Given the description of an element on the screen output the (x, y) to click on. 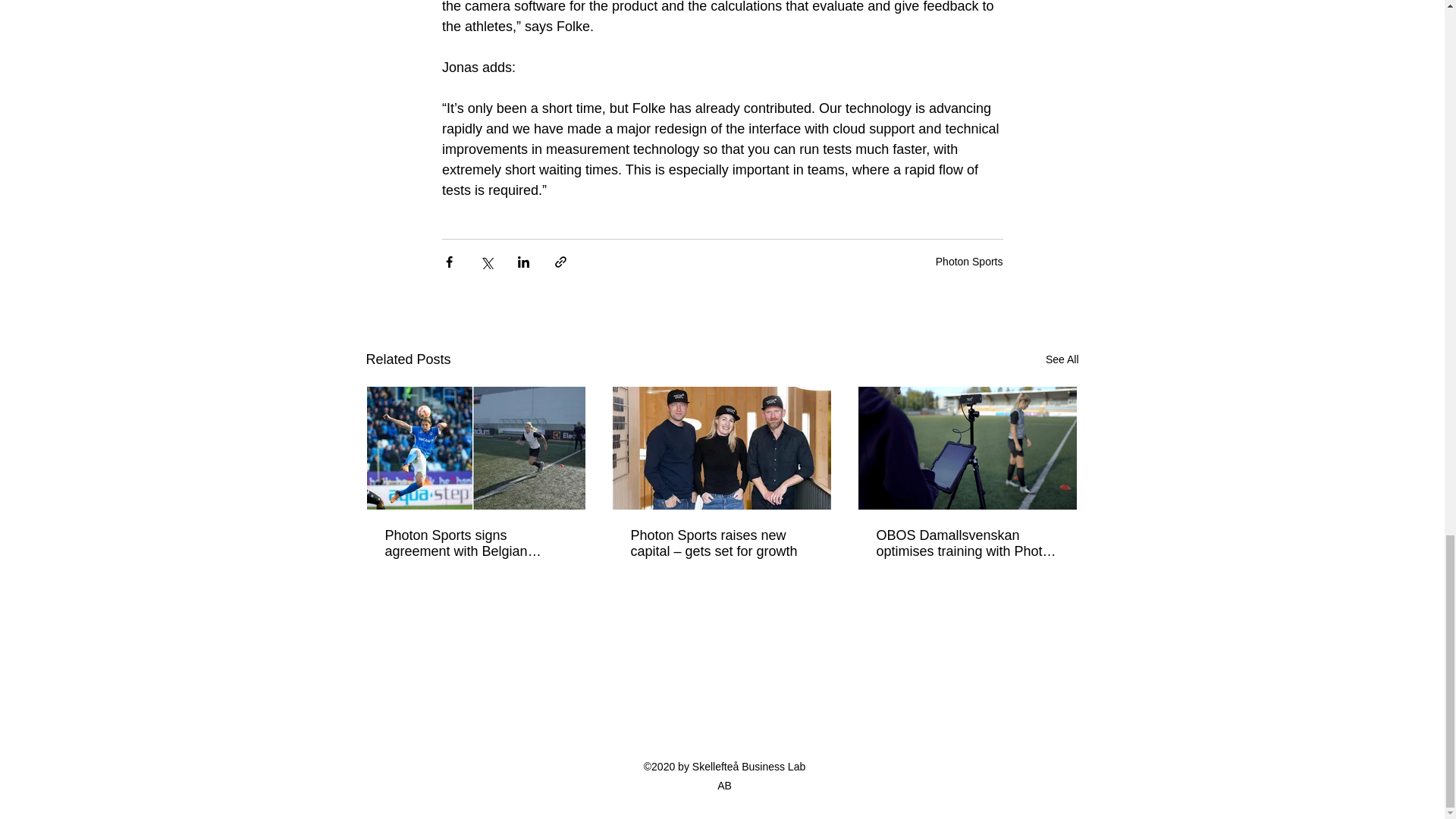
Photon Sports (969, 261)
See All (1061, 359)
